Given the description of an element on the screen output the (x, y) to click on. 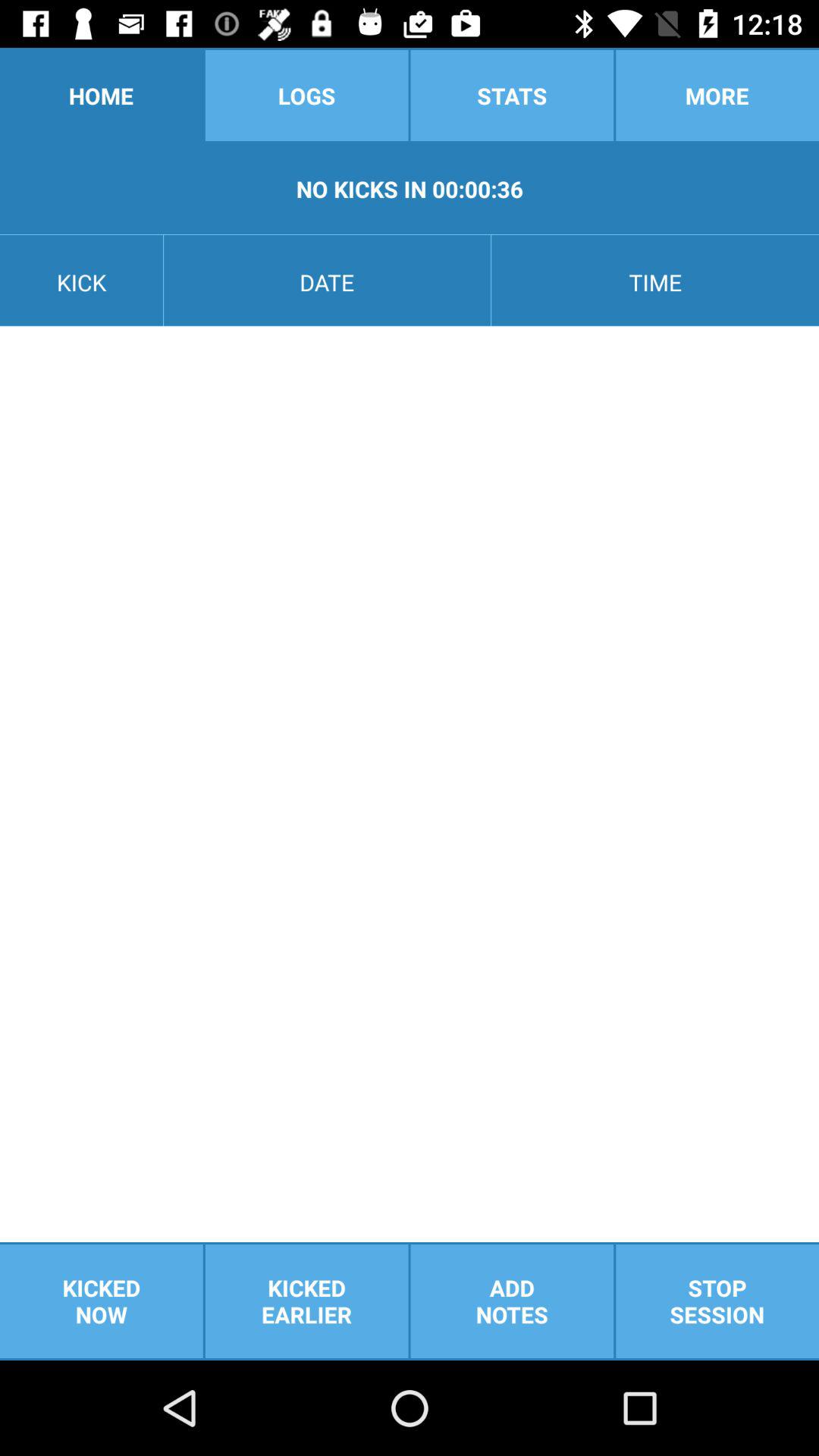
choose the logs button (306, 95)
